Given the description of an element on the screen output the (x, y) to click on. 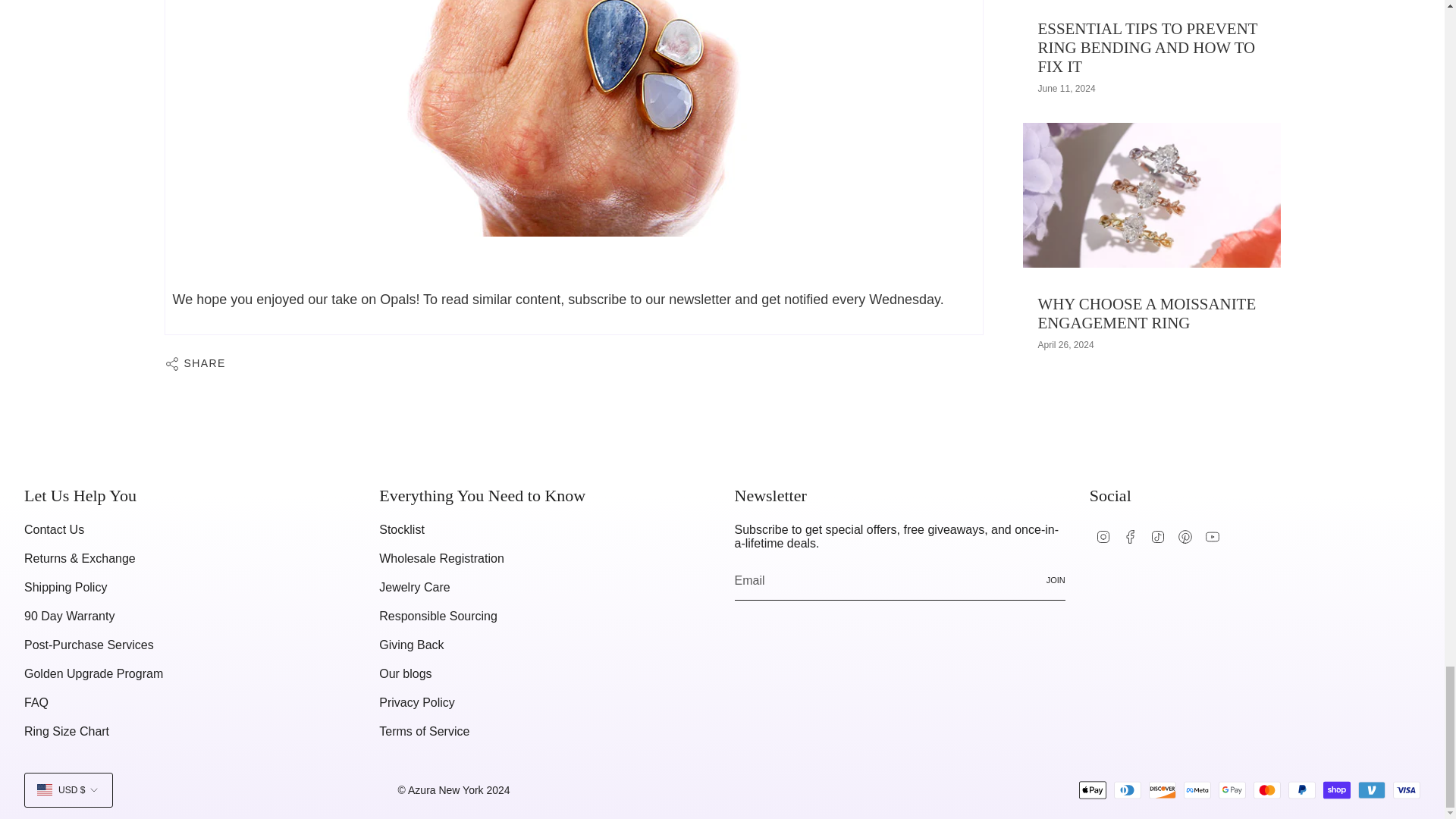
Azura New York on TikTok (1158, 535)
Azura New York on Pinterest (1184, 535)
Azura New York on Instagram (1103, 535)
Azura New York on Facebook (1130, 535)
Azura New York on YouTube (1212, 535)
